Given the description of an element on the screen output the (x, y) to click on. 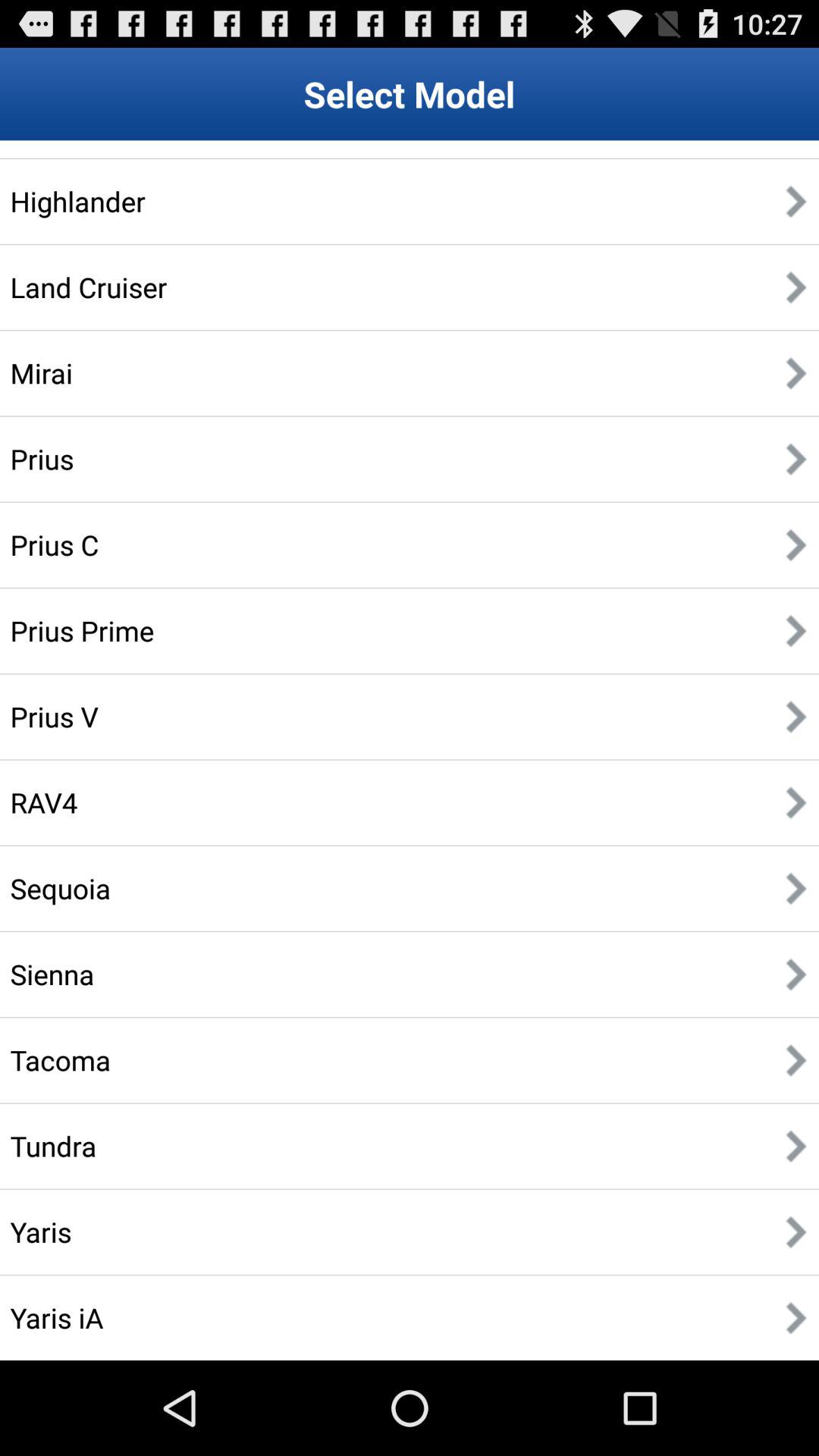
jump to the highlander app (77, 201)
